Given the description of an element on the screen output the (x, y) to click on. 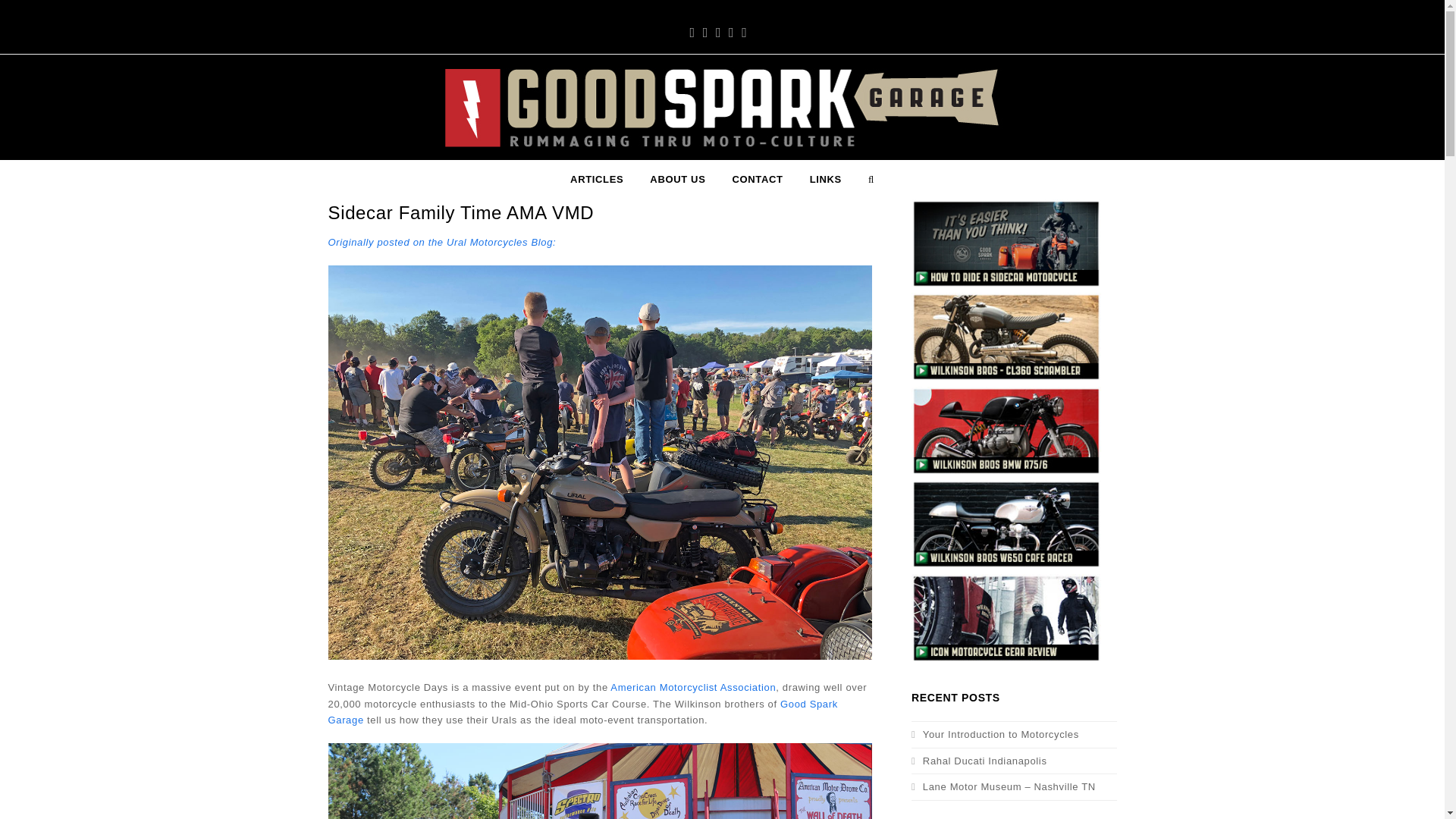
ABOUT US (678, 179)
LINKS (825, 179)
About the Wilkinson Brothers (678, 179)
American Motorcyclist Association (693, 686)
Originally posted on the Ural Motorcycles Blog: (441, 242)
Good Spark Garage (582, 711)
CONTACT (757, 179)
ARTICLES (596, 179)
